Given the description of an element on the screen output the (x, y) to click on. 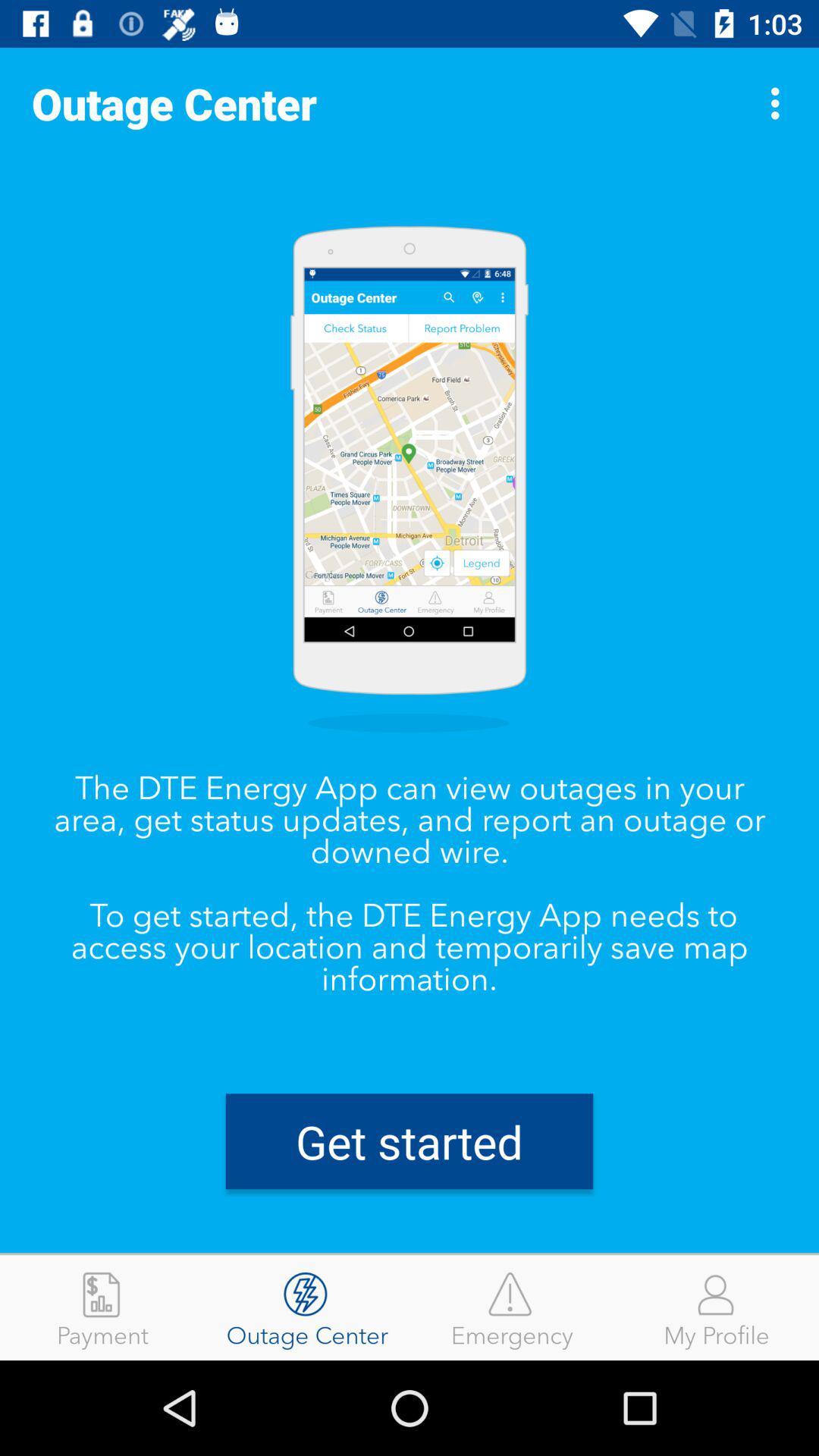
launch icon to the left of the outage center item (102, 1307)
